Given the description of an element on the screen output the (x, y) to click on. 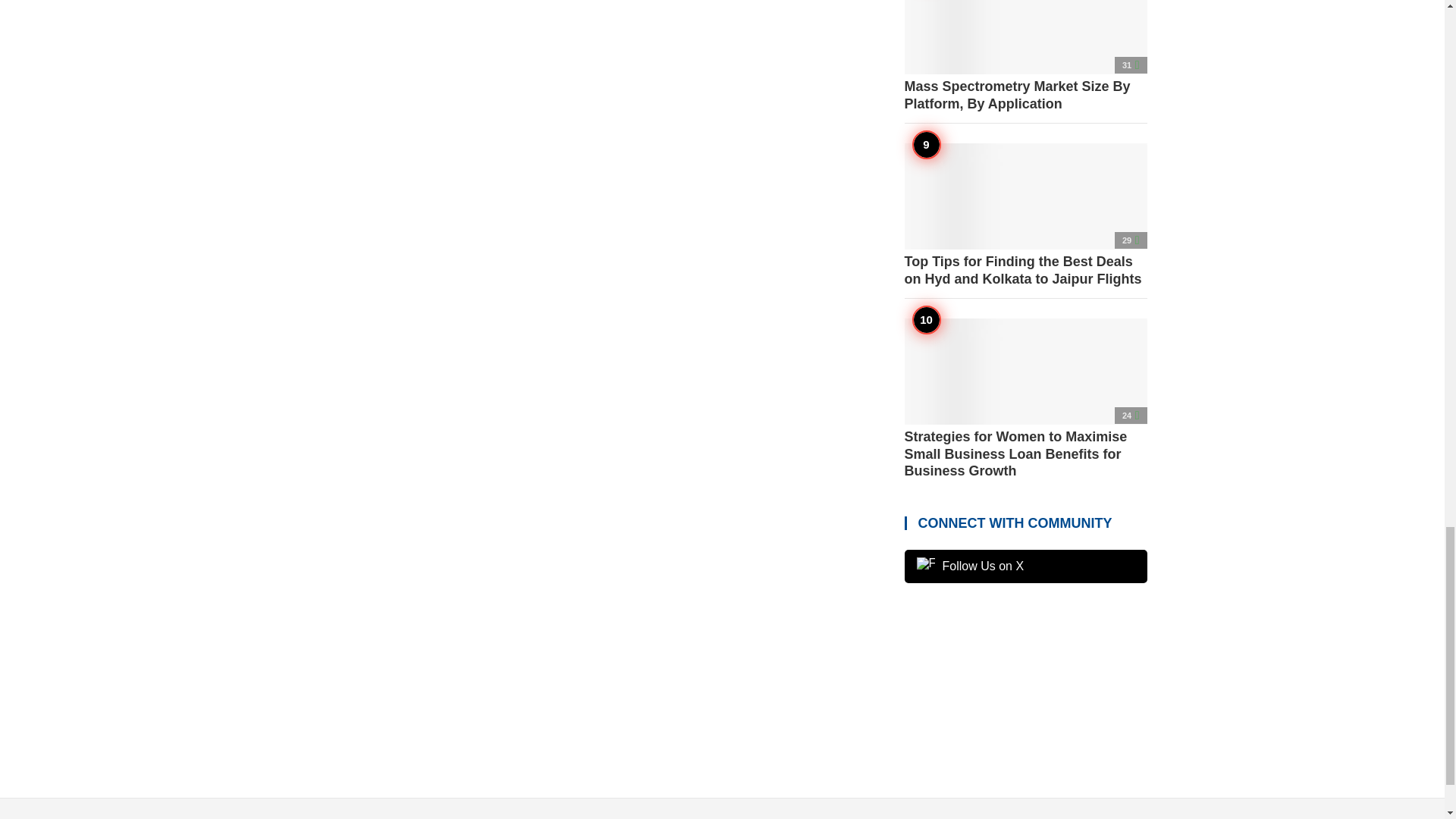
Mass Spectrometry Market Size By Platform, By Application (1025, 56)
